Given the description of an element on the screen output the (x, y) to click on. 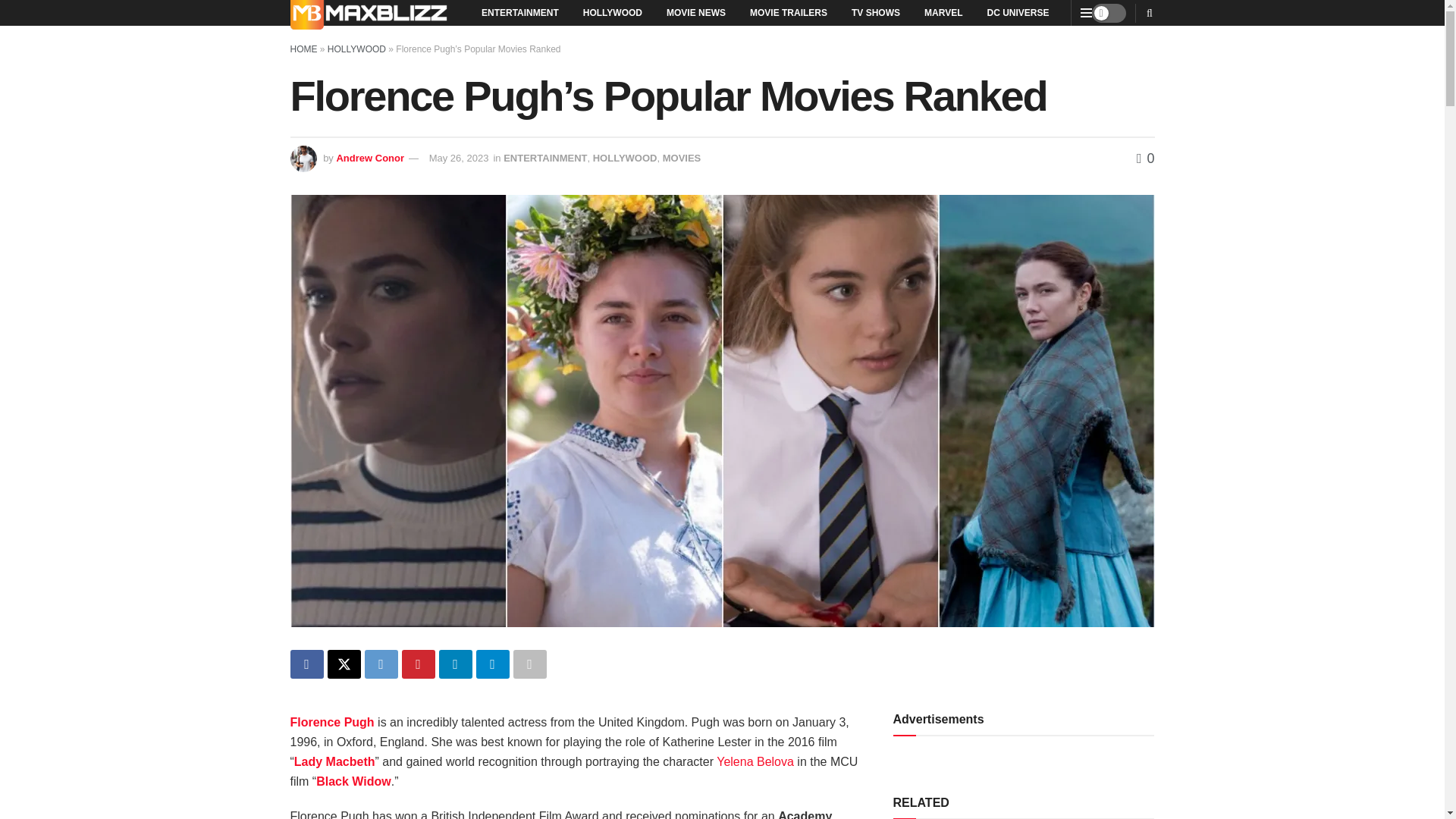
MOVIE NEWS (695, 12)
HOLLYWOOD (356, 49)
MOVIE TRAILERS (789, 12)
DC UNIVERSE (1017, 12)
TV SHOWS (876, 12)
ENTERTAINMENT (544, 157)
MOVIES (681, 157)
HOME (303, 49)
HOLLYWOOD (611, 12)
Andrew Conor (370, 157)
HOLLYWOOD (625, 157)
May 26, 2023 (459, 157)
MARVEL (943, 12)
0 (1145, 158)
ENTERTAINMENT (519, 12)
